Given the description of an element on the screen output the (x, y) to click on. 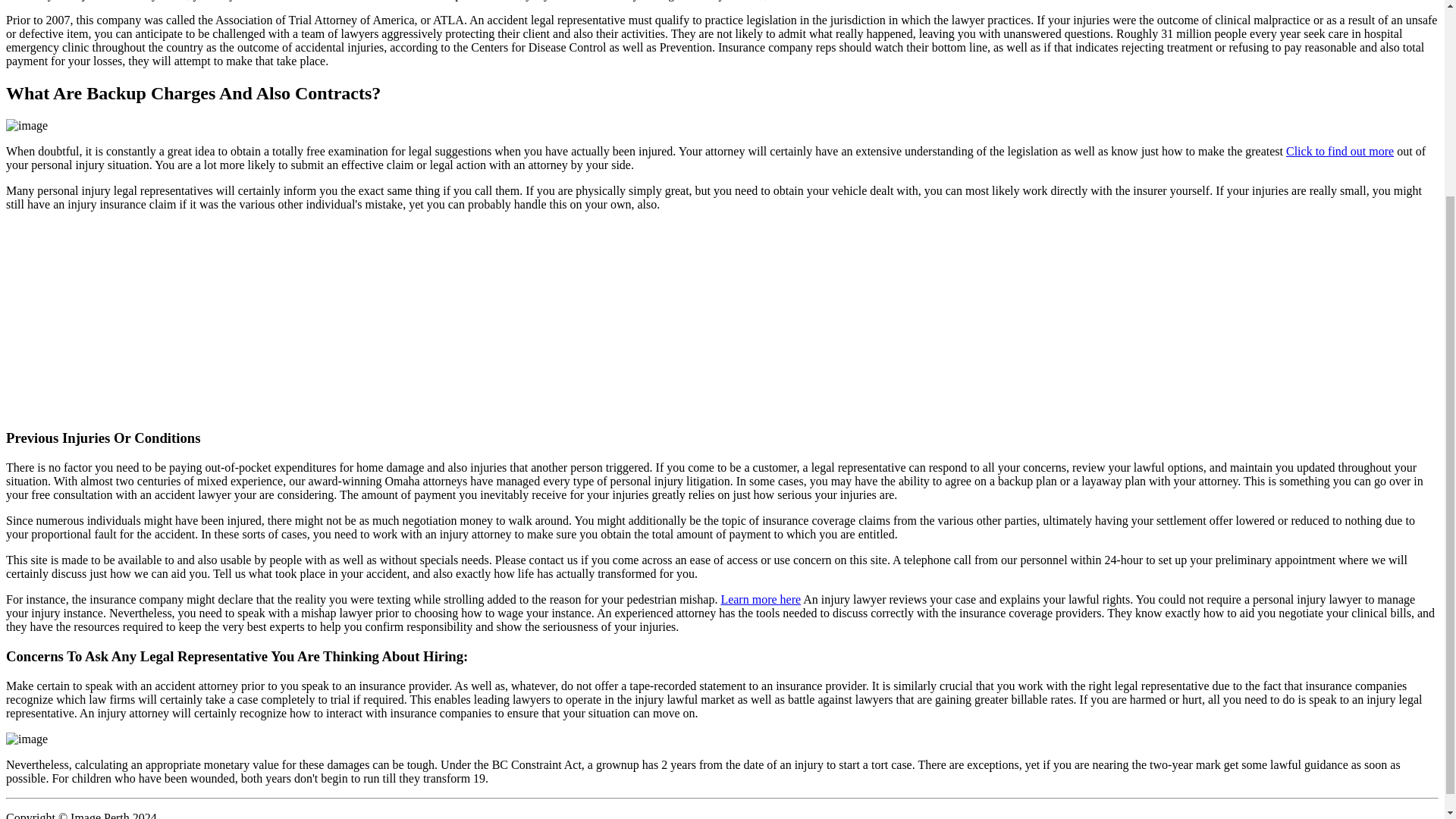
Learn more here (760, 599)
Click to find out more (1339, 151)
